Given the description of an element on the screen output the (x, y) to click on. 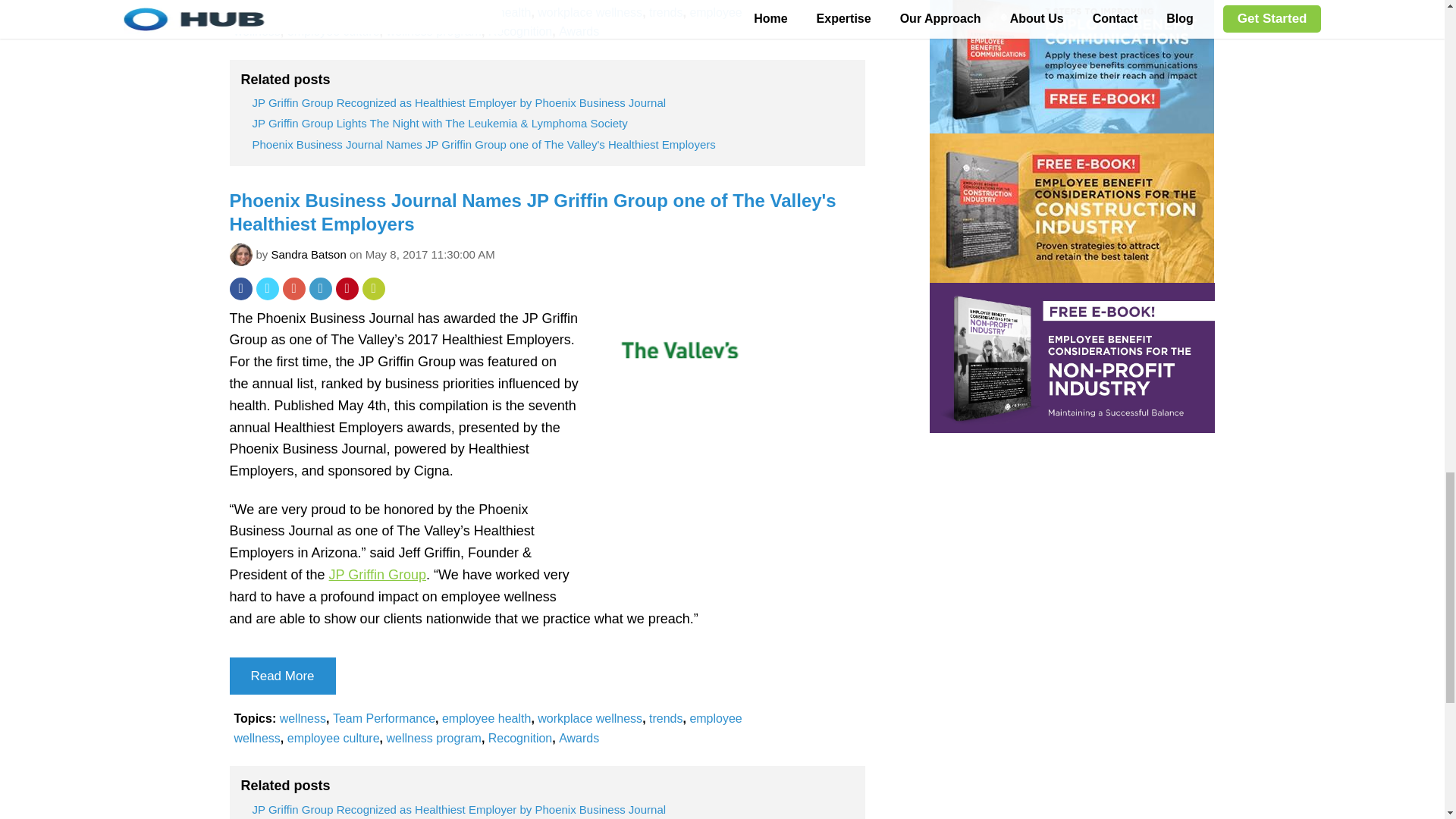
Share this page on Google Plus (293, 288)
Share this page on Twitter (267, 288)
Share this page on LinkedIn (319, 288)
Share this page on Facebook (239, 288)
